Given the description of an element on the screen output the (x, y) to click on. 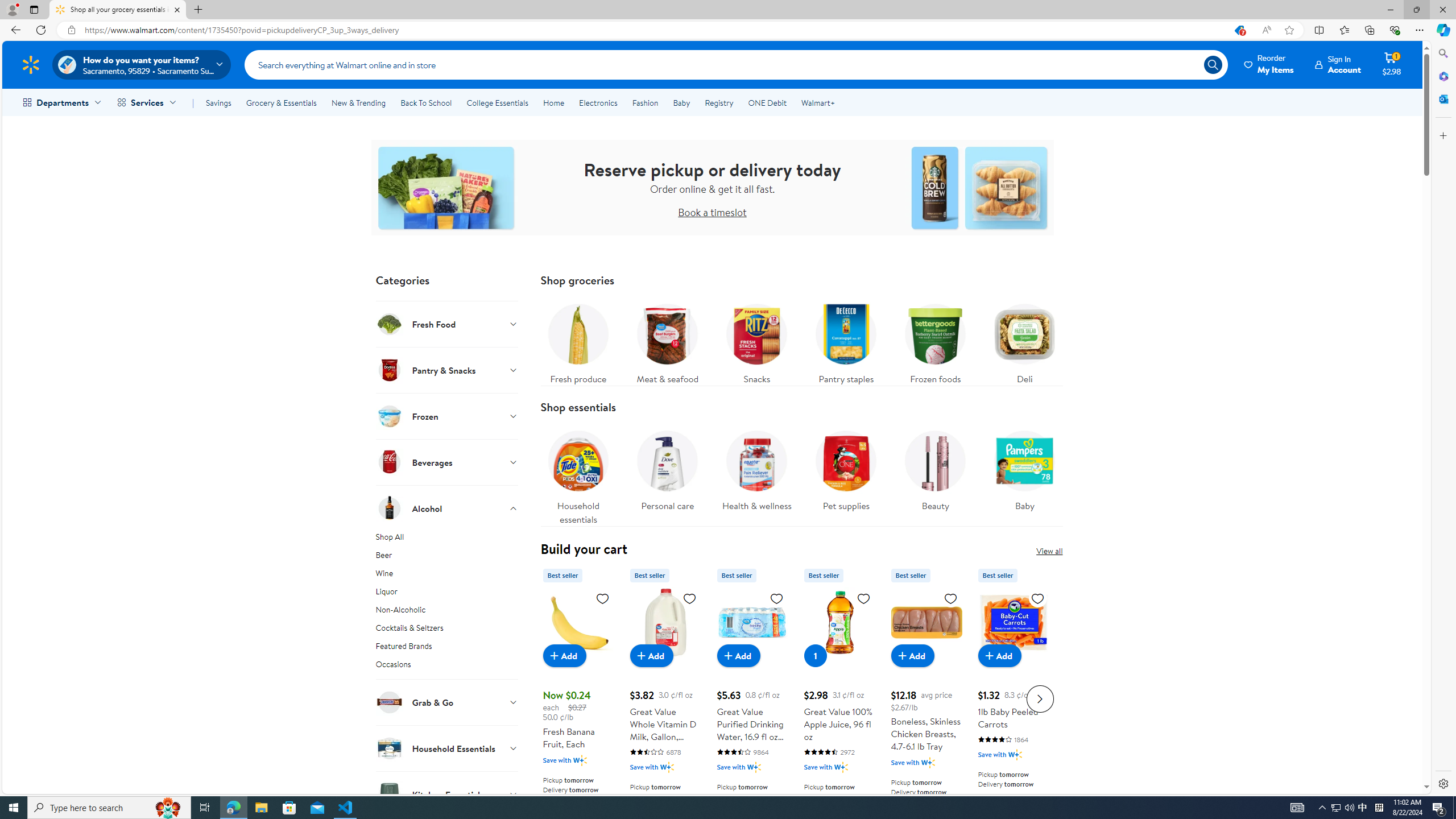
Health & wellness (756, 467)
Pantry staples (845, 340)
New & Trending (358, 102)
